Given the description of an element on the screen output the (x, y) to click on. 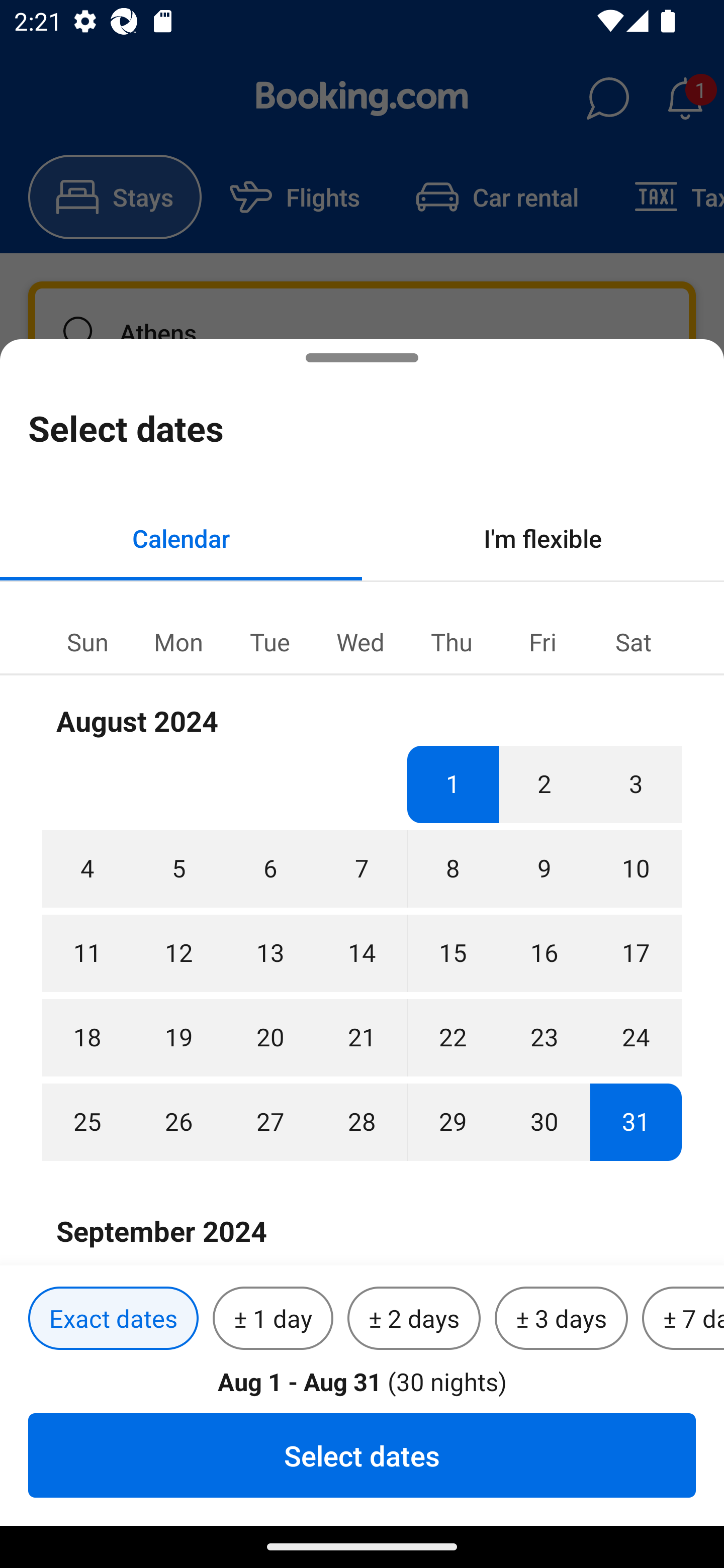
I'm flexible (543, 537)
Exact dates (113, 1318)
± 1 day (272, 1318)
± 2 days (413, 1318)
± 3 days (560, 1318)
± 7 days (683, 1318)
Select dates (361, 1454)
